Given the description of an element on the screen output the (x, y) to click on. 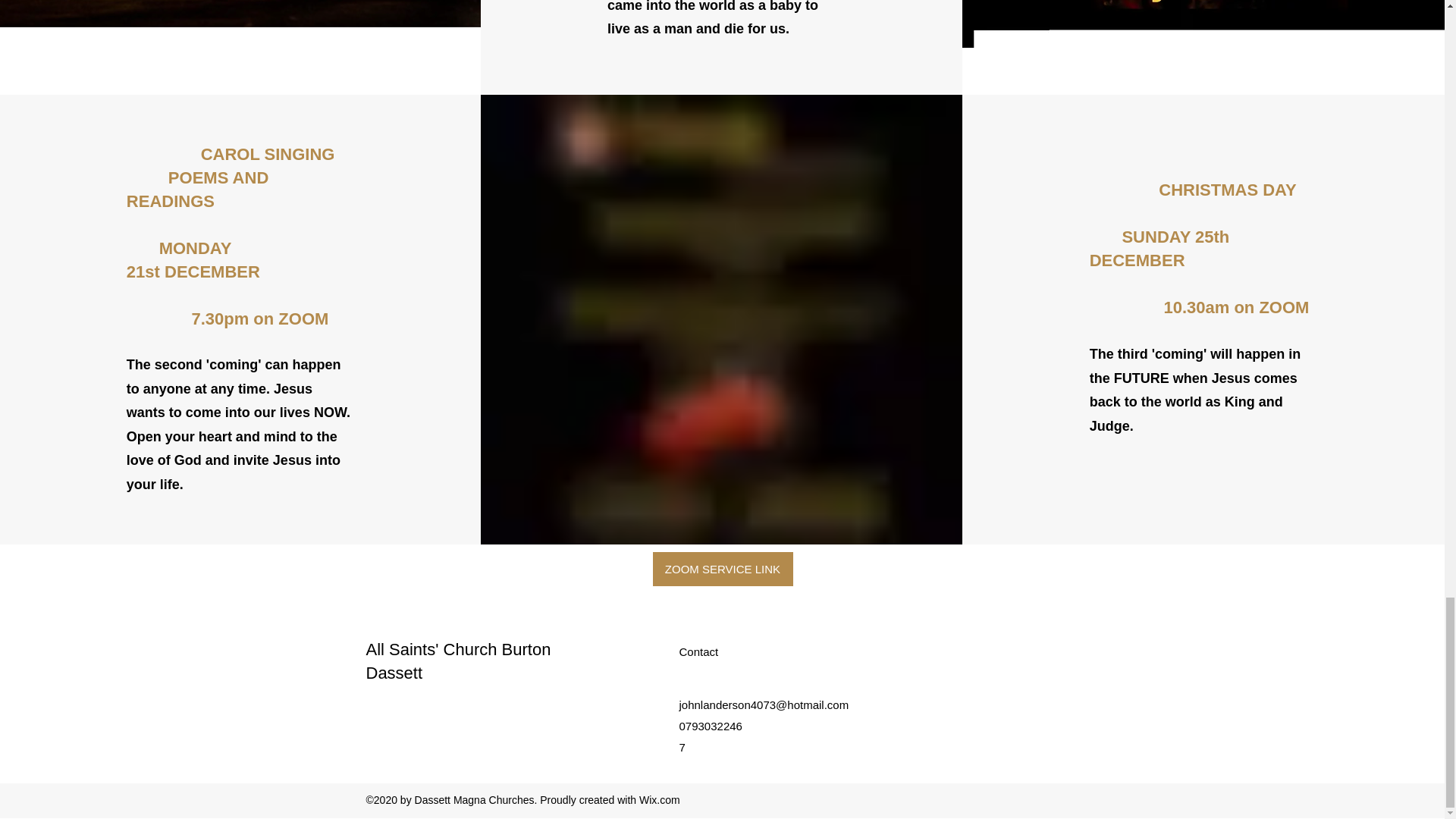
All Saints' Church Burton Dassett (457, 660)
ZOOM SERVICE LINK (722, 569)
